Given the description of an element on the screen output the (x, y) to click on. 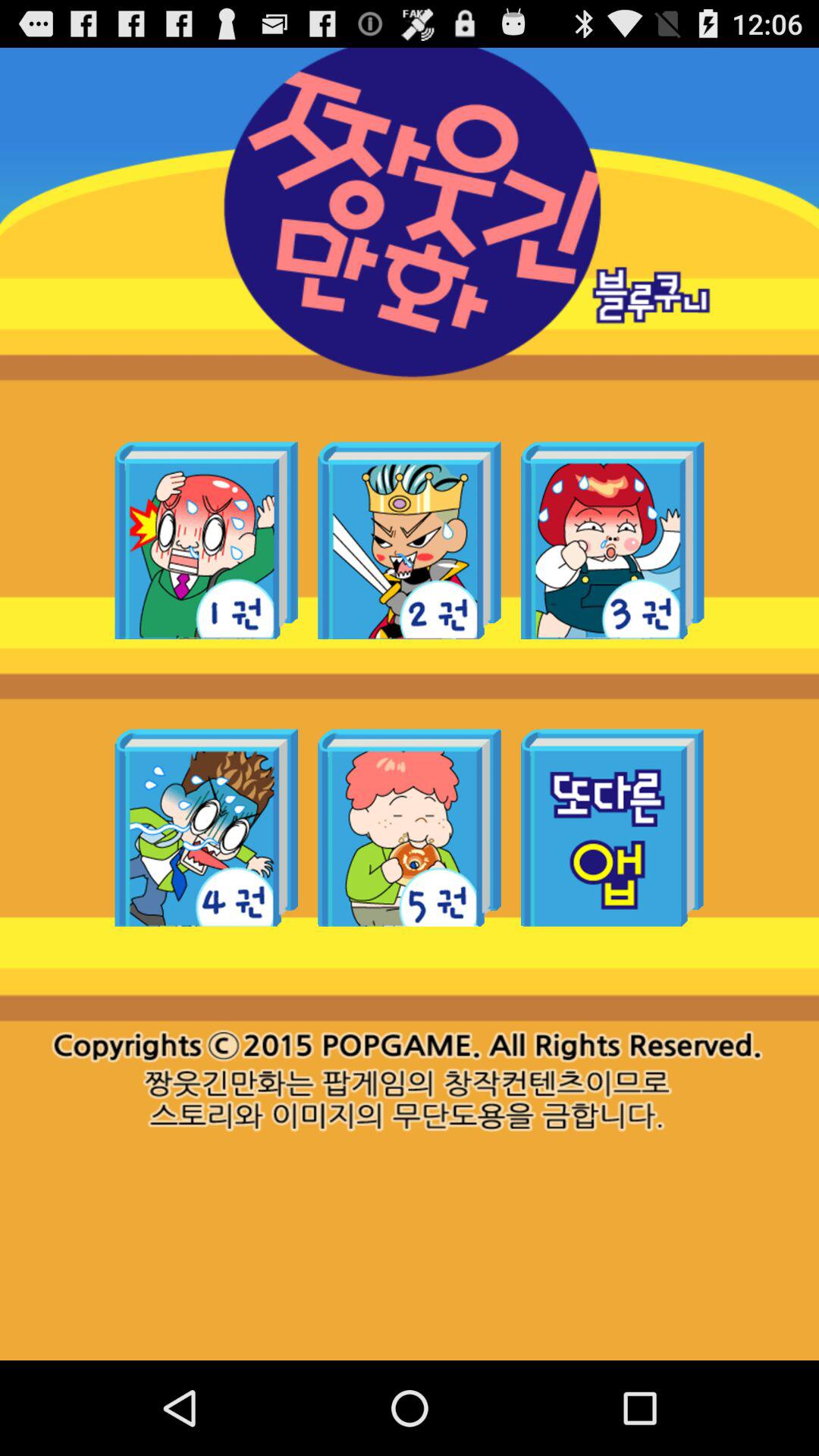
select a game (206, 540)
